Given the description of an element on the screen output the (x, y) to click on. 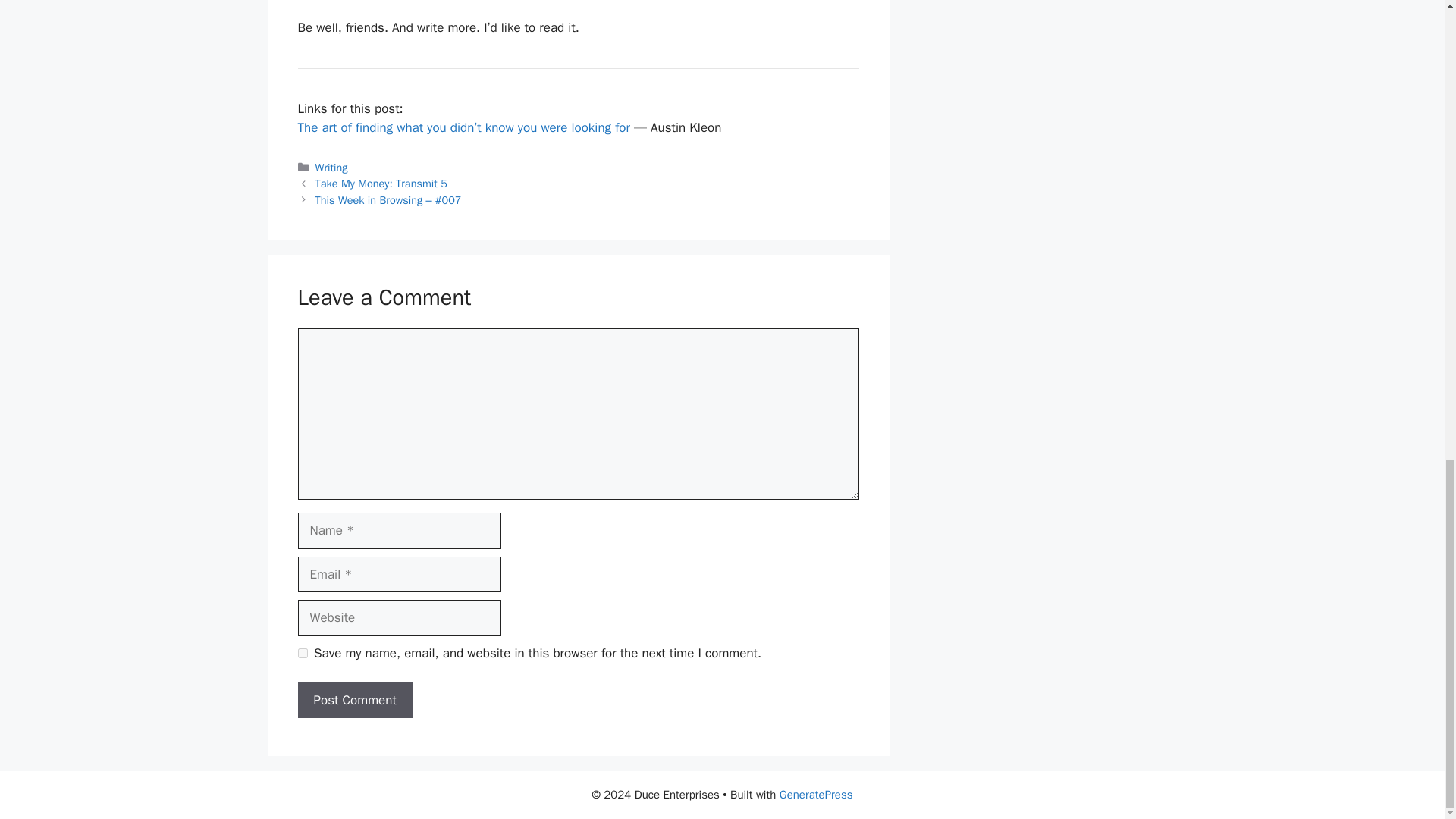
Post Comment (354, 700)
Post Comment (354, 700)
yes (302, 653)
GeneratePress (815, 794)
Take My Money: Transmit 5 (380, 183)
Writing (331, 167)
